Given the description of an element on the screen output the (x, y) to click on. 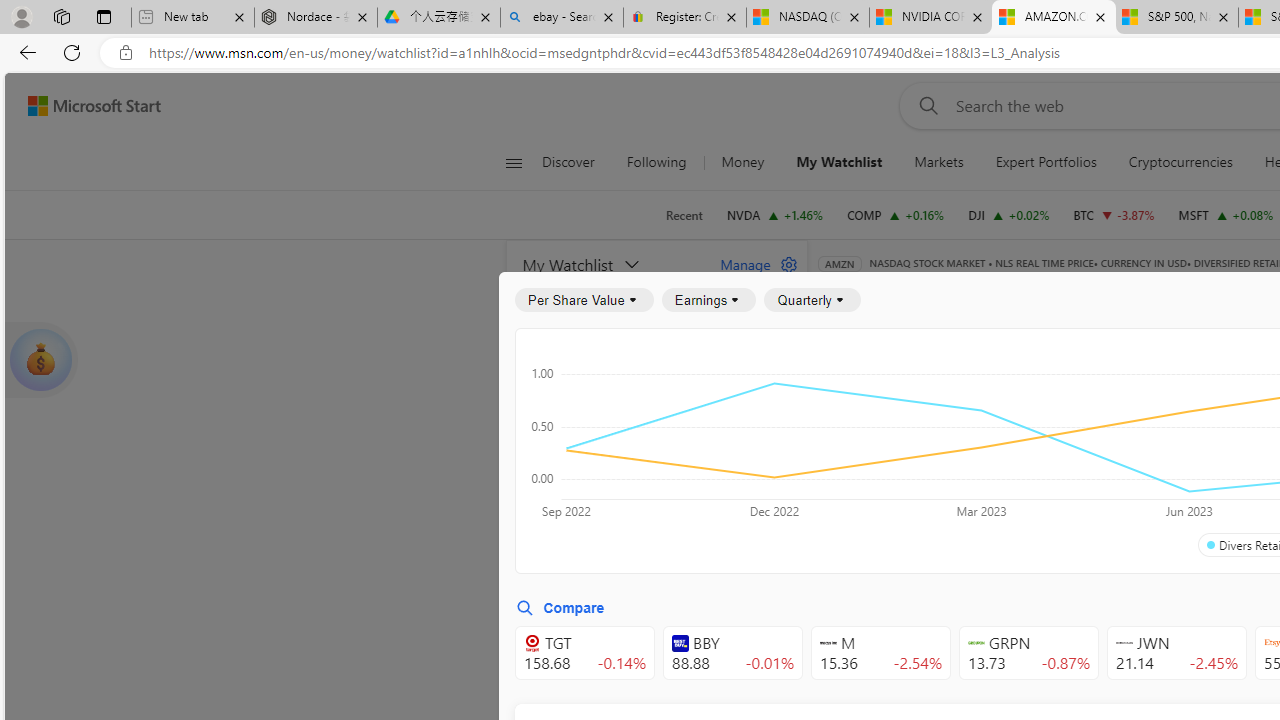
My Watchlist (839, 162)
Per Share Value (584, 300)
Markets (939, 162)
Manage (751, 264)
show card (40, 359)
Following (658, 162)
Growth Rates (1058, 445)
S&P 500, Nasdaq end lower, weighed by Nvidia dip | Watch (1176, 17)
Money (742, 162)
Per Share Values (934, 445)
Discover (568, 162)
